Given the description of an element on the screen output the (x, y) to click on. 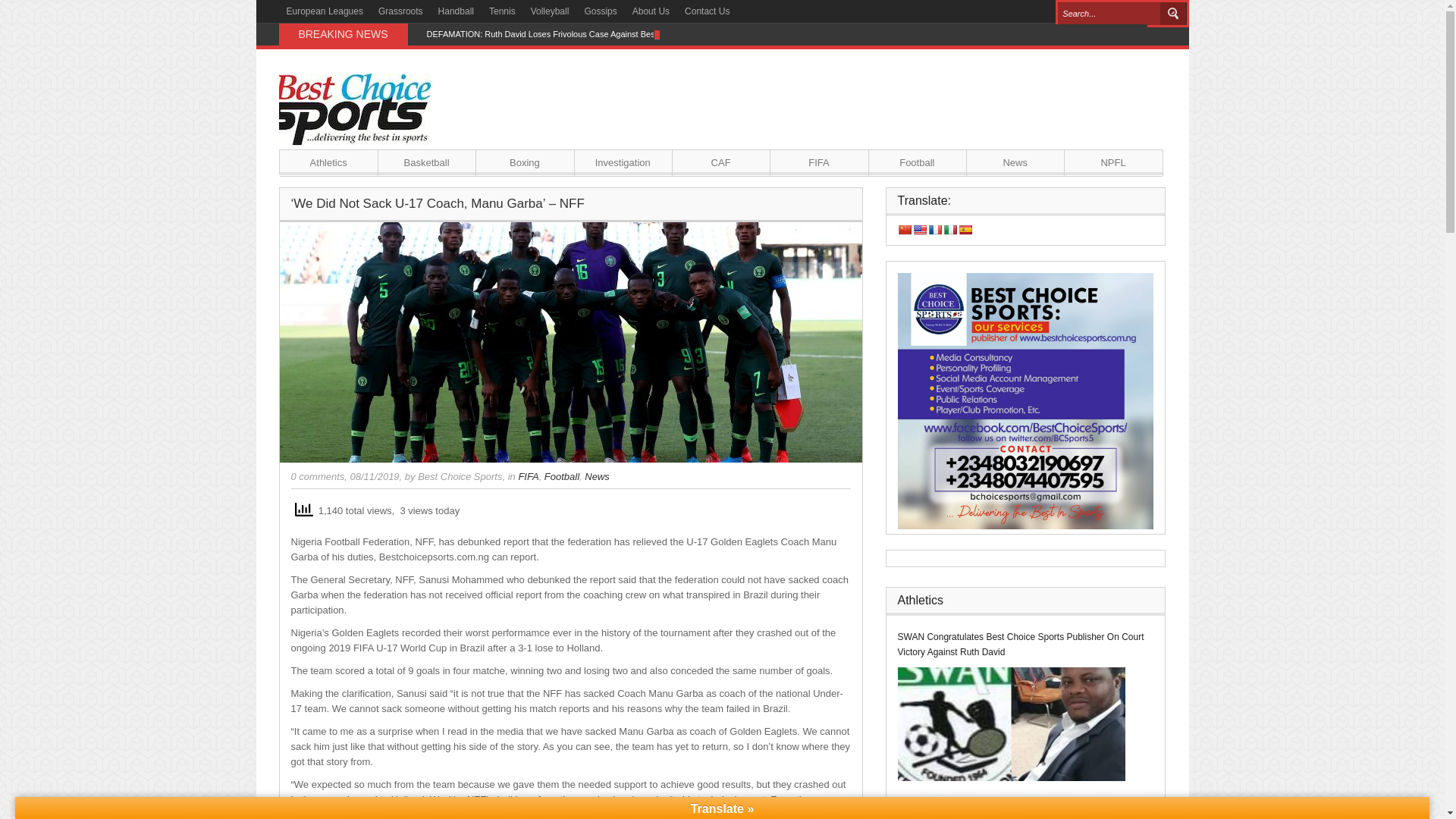
Football (561, 476)
FIFA (818, 162)
European Leagues (325, 11)
News (597, 476)
Investigation (622, 162)
0 comments (318, 476)
Football (916, 162)
French (935, 229)
Tennis (501, 11)
Search (1173, 13)
CAF (720, 162)
English (919, 229)
Handball (455, 11)
Best Choice Sports (459, 476)
